Given the description of an element on the screen output the (x, y) to click on. 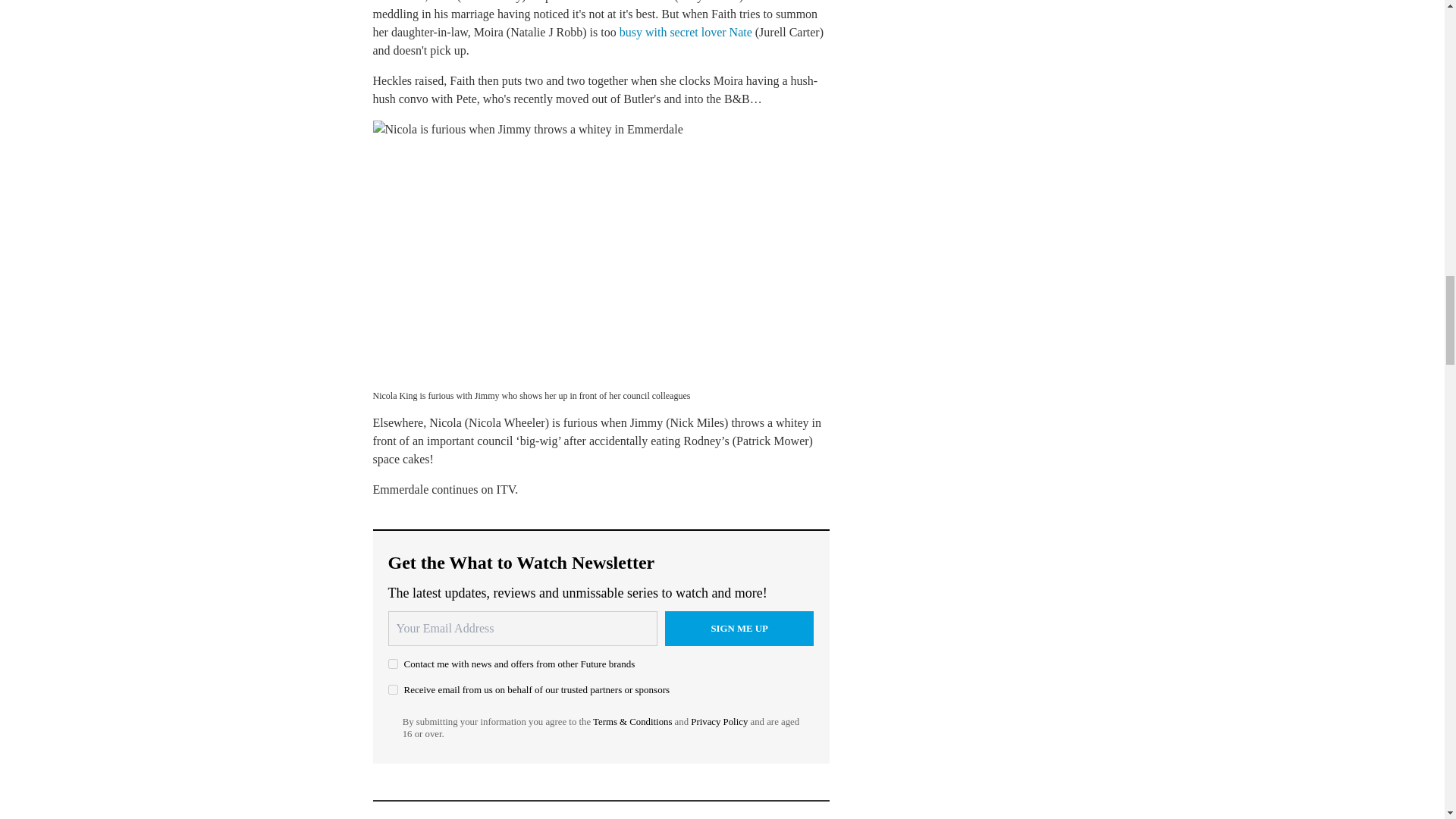
Sign me up (739, 628)
on (392, 689)
on (392, 664)
